Given the description of an element on the screen output the (x, y) to click on. 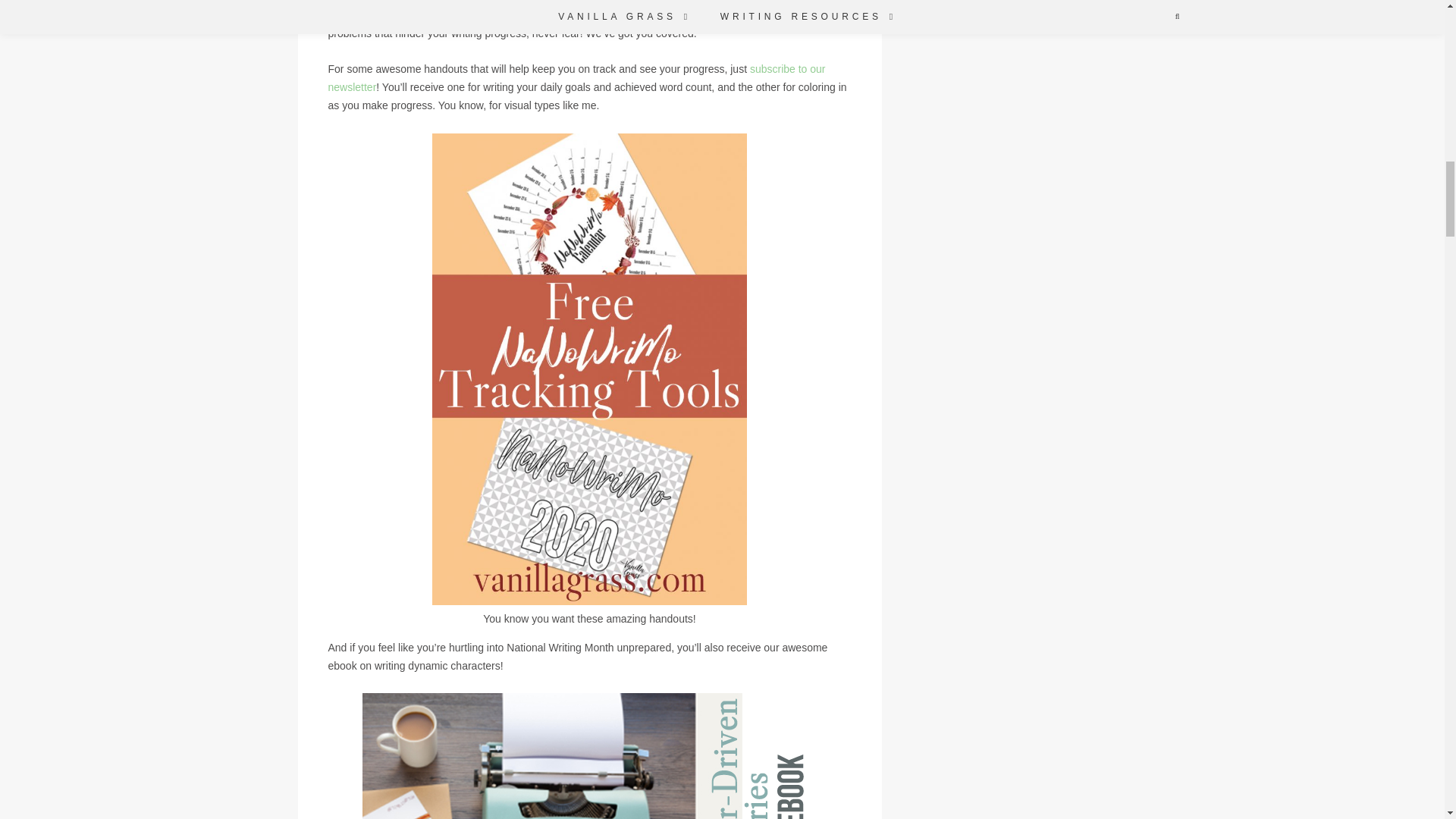
time management (625, 15)
story structure (707, 15)
subscribe to our newsletter (576, 78)
